Given the description of an element on the screen output the (x, y) to click on. 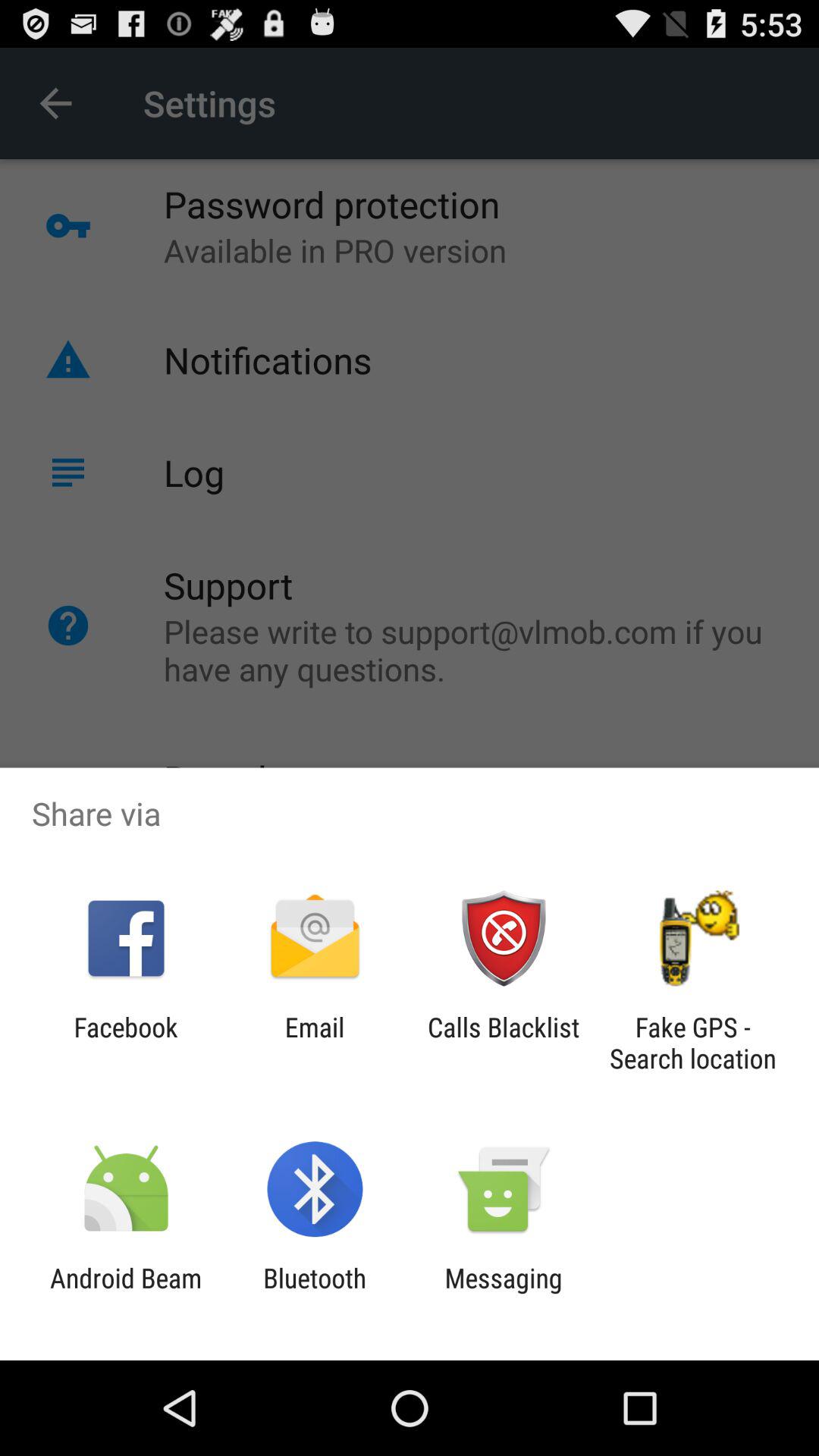
launch the app next to facebook item (314, 1042)
